Given the description of an element on the screen output the (x, y) to click on. 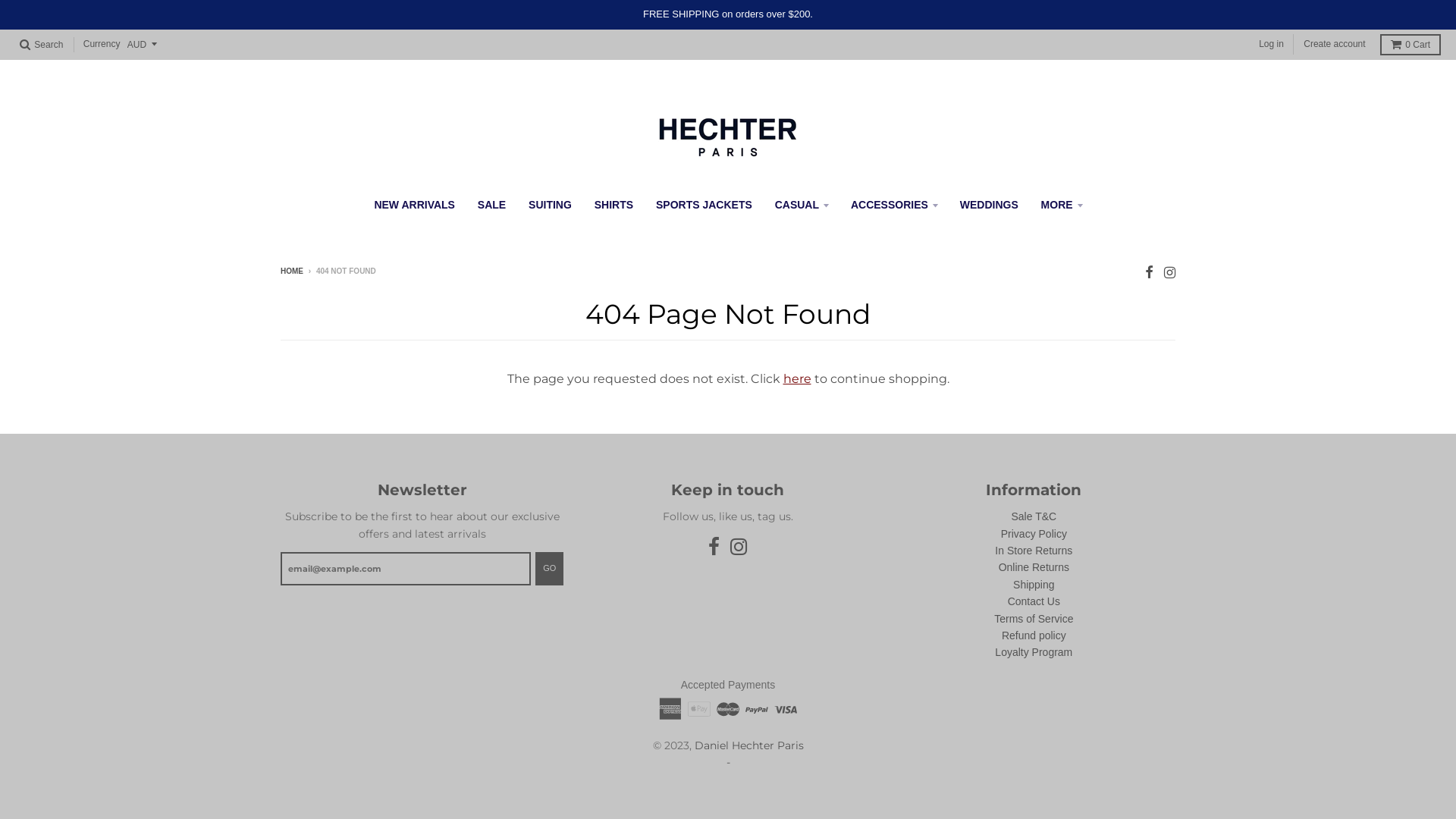
Sale T&C Element type: text (1033, 516)
GO Element type: text (549, 568)
Contact Us Element type: text (1033, 601)
here Element type: text (796, 378)
Terms of Service Element type: text (1033, 618)
NEW ARRIVALS Element type: text (414, 204)
Daniel Hechter Paris on Instagram Element type: hover (738, 547)
Shipping Element type: text (1033, 584)
WEDDINGS Element type: text (989, 204)
Daniel Hechter Paris Element type: text (748, 745)
In Store Returns Element type: text (1033, 550)
Online Returns Element type: text (1033, 567)
Daniel Hechter Paris on Facebook Element type: hover (1149, 272)
ACCESSORIES Element type: text (893, 204)
SPORTS JACKETS Element type: text (704, 204)
Privacy Policy Element type: text (1033, 533)
SALE Element type: text (491, 204)
CASUAL Element type: text (801, 204)
Daniel Hechter Paris on Facebook Element type: hover (713, 547)
HOME Element type: text (291, 270)
0 Cart Element type: text (1410, 44)
Create account Element type: text (1334, 44)
Log in Element type: text (1271, 44)
Refund policy Element type: text (1033, 635)
MORE Element type: text (1061, 204)
Search Element type: text (41, 44)
SHIRTS Element type: text (613, 204)
Daniel Hechter Paris on Instagram Element type: hover (1169, 272)
SUITING Element type: text (549, 204)
- Element type: text (728, 761)
Loyalty Program Element type: text (1033, 652)
